Given the description of an element on the screen output the (x, y) to click on. 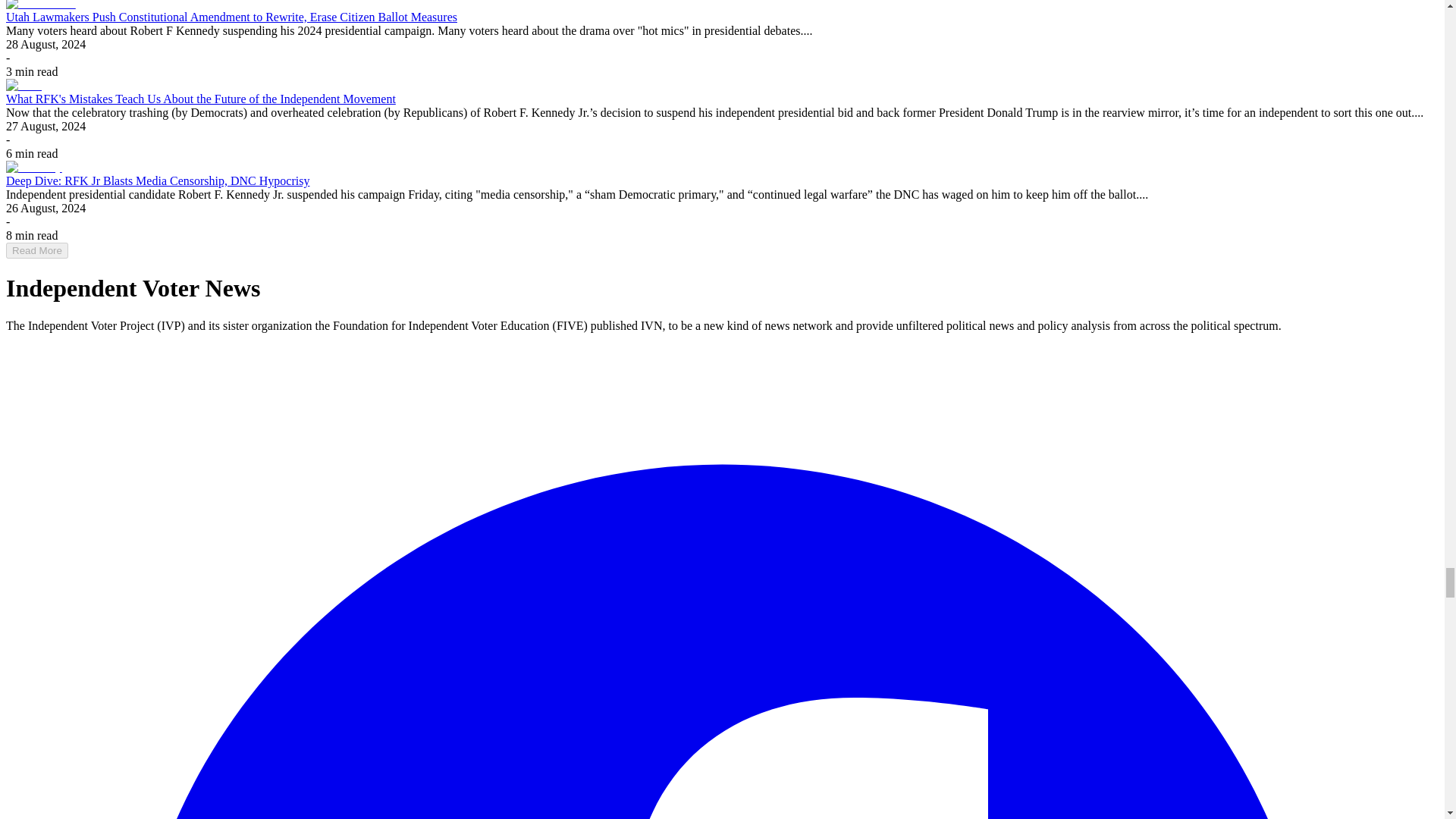
Read More (36, 250)
Deep Dive: RFK Jr Blasts Media Censorship, DNC Hypocrisy (156, 180)
